Given the description of an element on the screen output the (x, y) to click on. 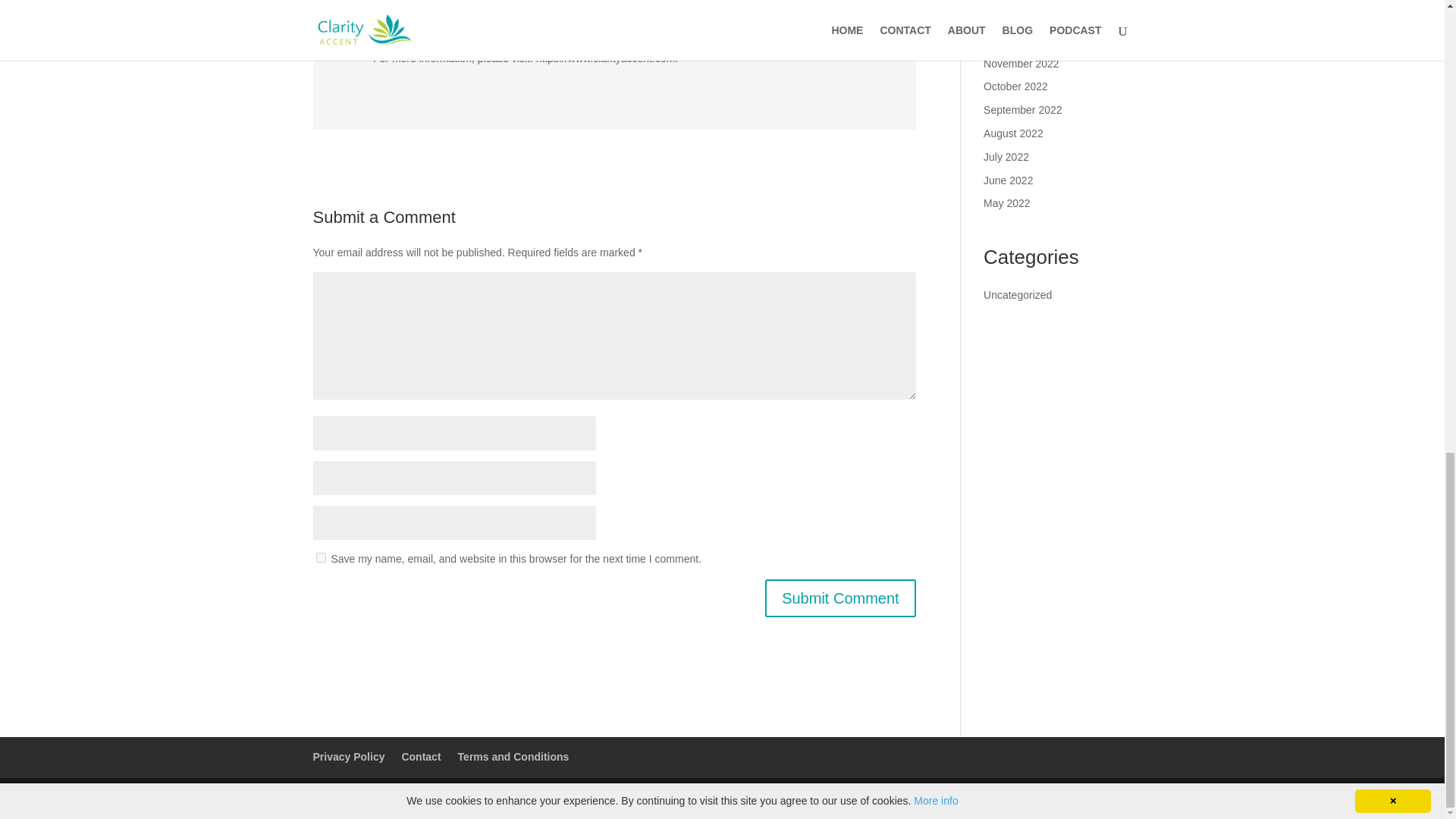
June 2022 (1008, 180)
August 2022 (1013, 133)
July 2022 (1006, 156)
January 2023 (1016, 16)
December 2022 (1021, 39)
September 2022 (1023, 110)
Submit Comment (840, 598)
October 2022 (1016, 86)
November 2022 (1021, 63)
yes (319, 557)
